Given the description of an element on the screen output the (x, y) to click on. 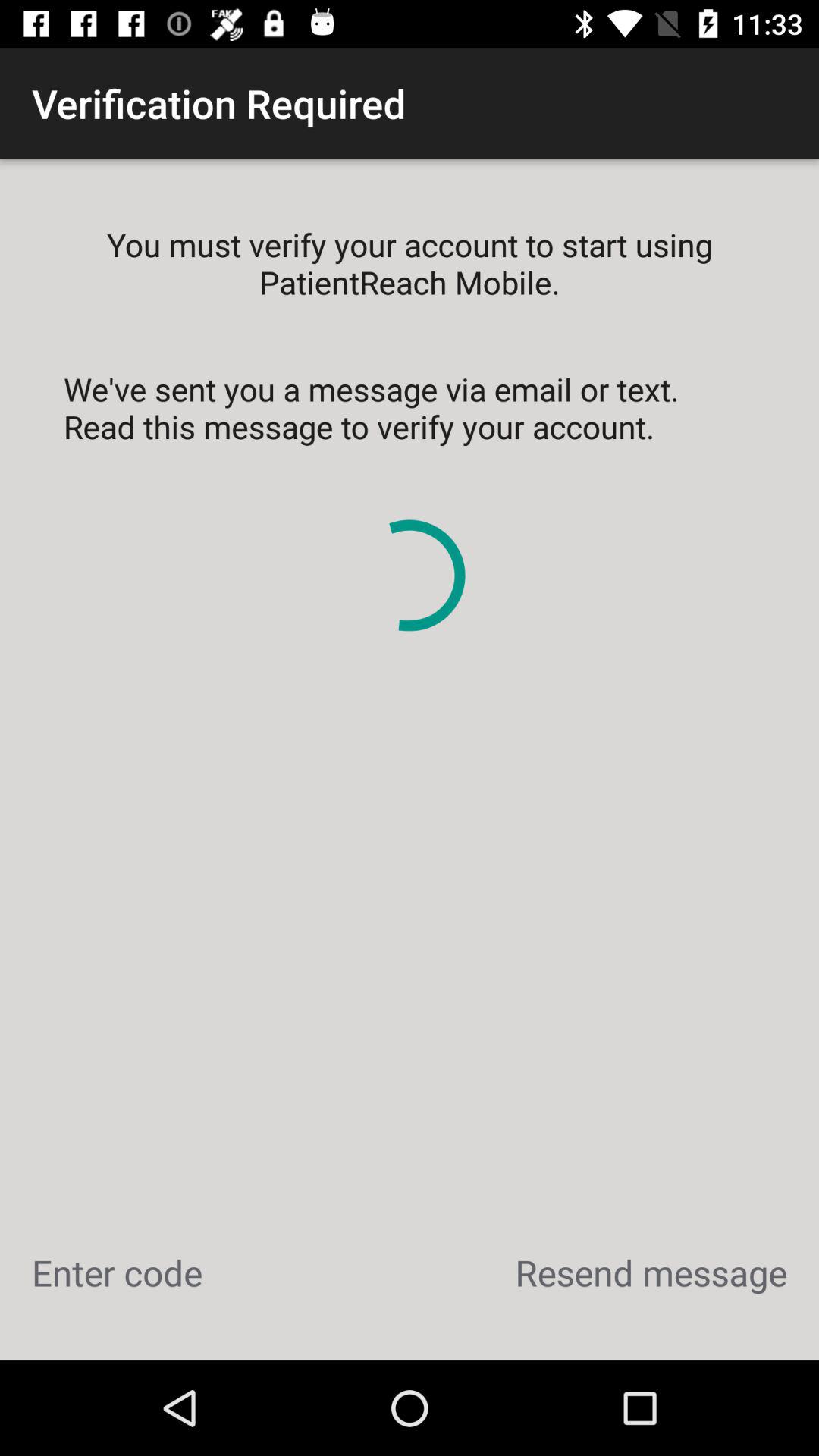
tap the icon next to enter code icon (651, 1272)
